Given the description of an element on the screen output the (x, y) to click on. 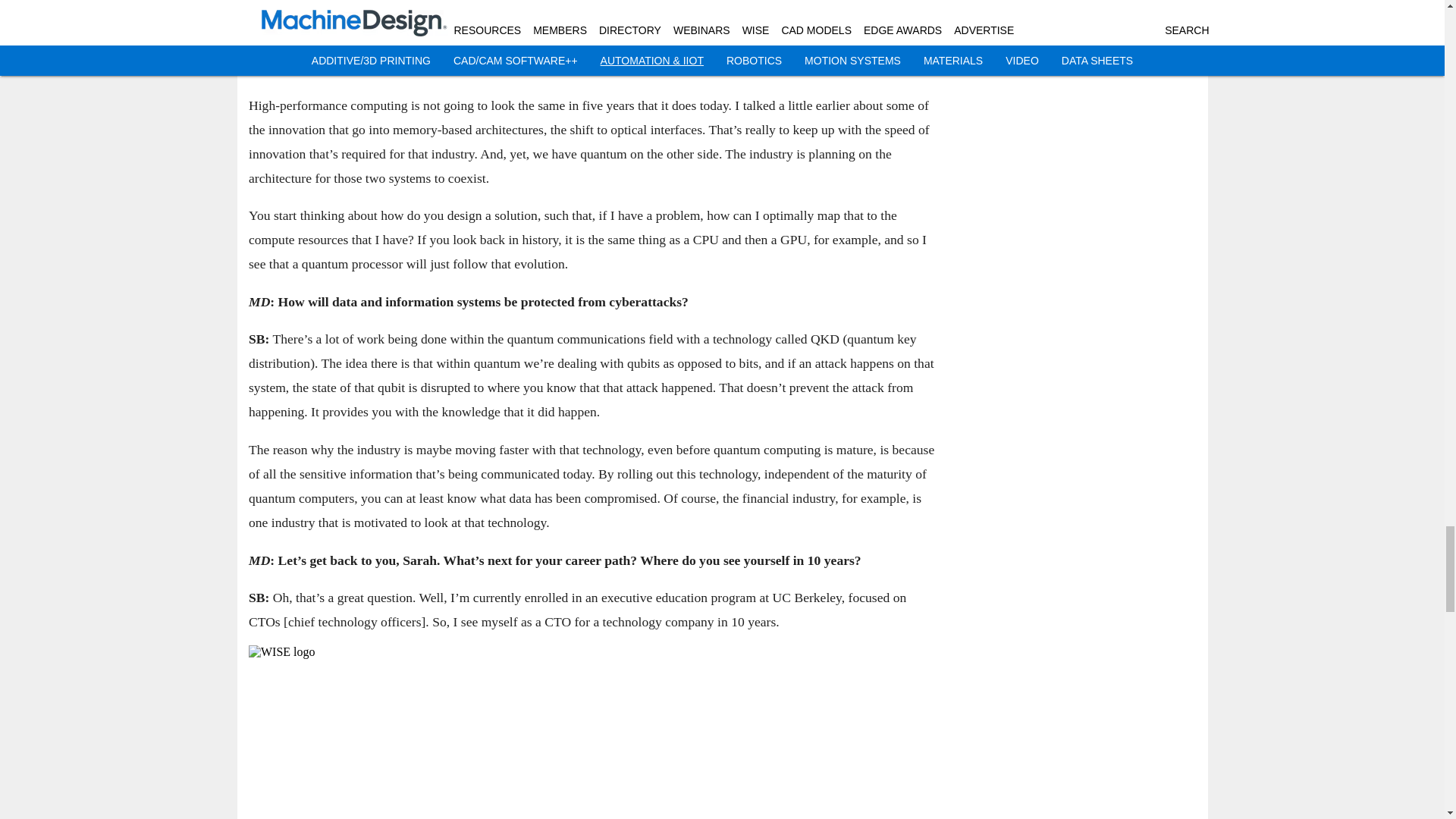
WISE logo (593, 732)
